Given the description of an element on the screen output the (x, y) to click on. 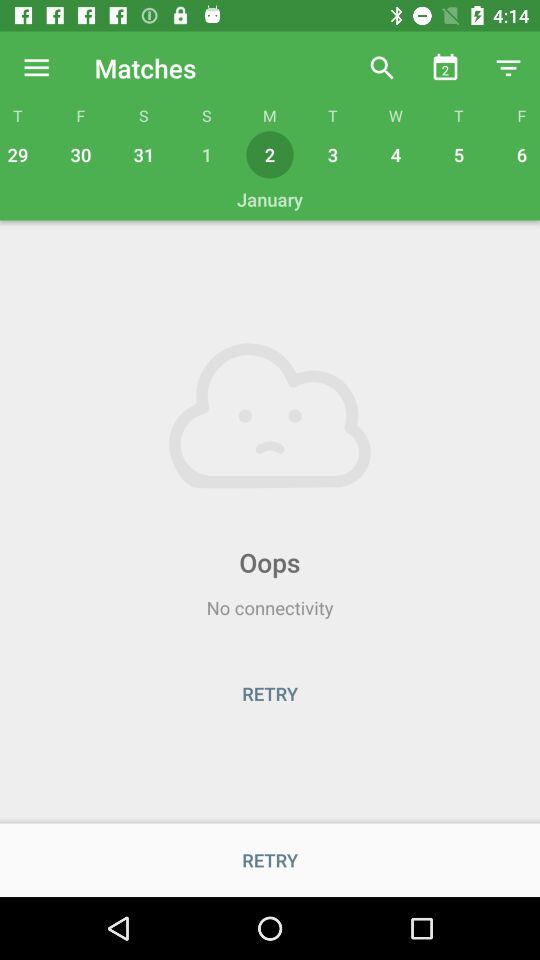
launch the icon above t (36, 68)
